Given the description of an element on the screen output the (x, y) to click on. 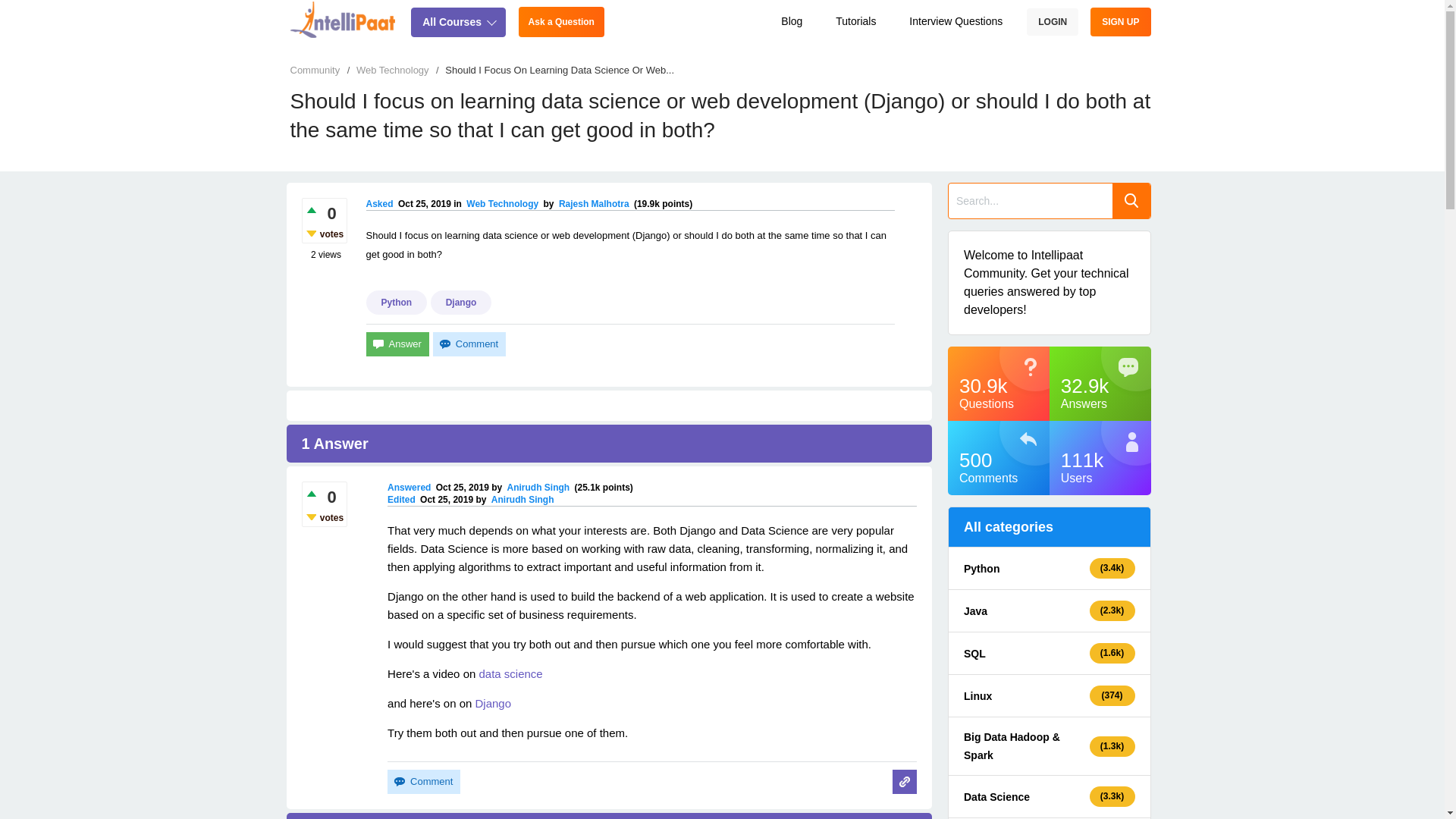
Click to vote down (309, 516)
Search (1131, 200)
Intellipaat Community (342, 18)
comment (468, 344)
ask related question (903, 781)
Click to vote down (309, 233)
LOGIN (1052, 22)
Add a comment on this answer (423, 781)
Ask a new question relating to this answer (903, 781)
Search (1131, 200)
comment (423, 781)
Add a comment on this question (468, 344)
Click to vote up (309, 492)
SIGN UP (1120, 21)
Click to vote up (309, 209)
